Given the description of an element on the screen output the (x, y) to click on. 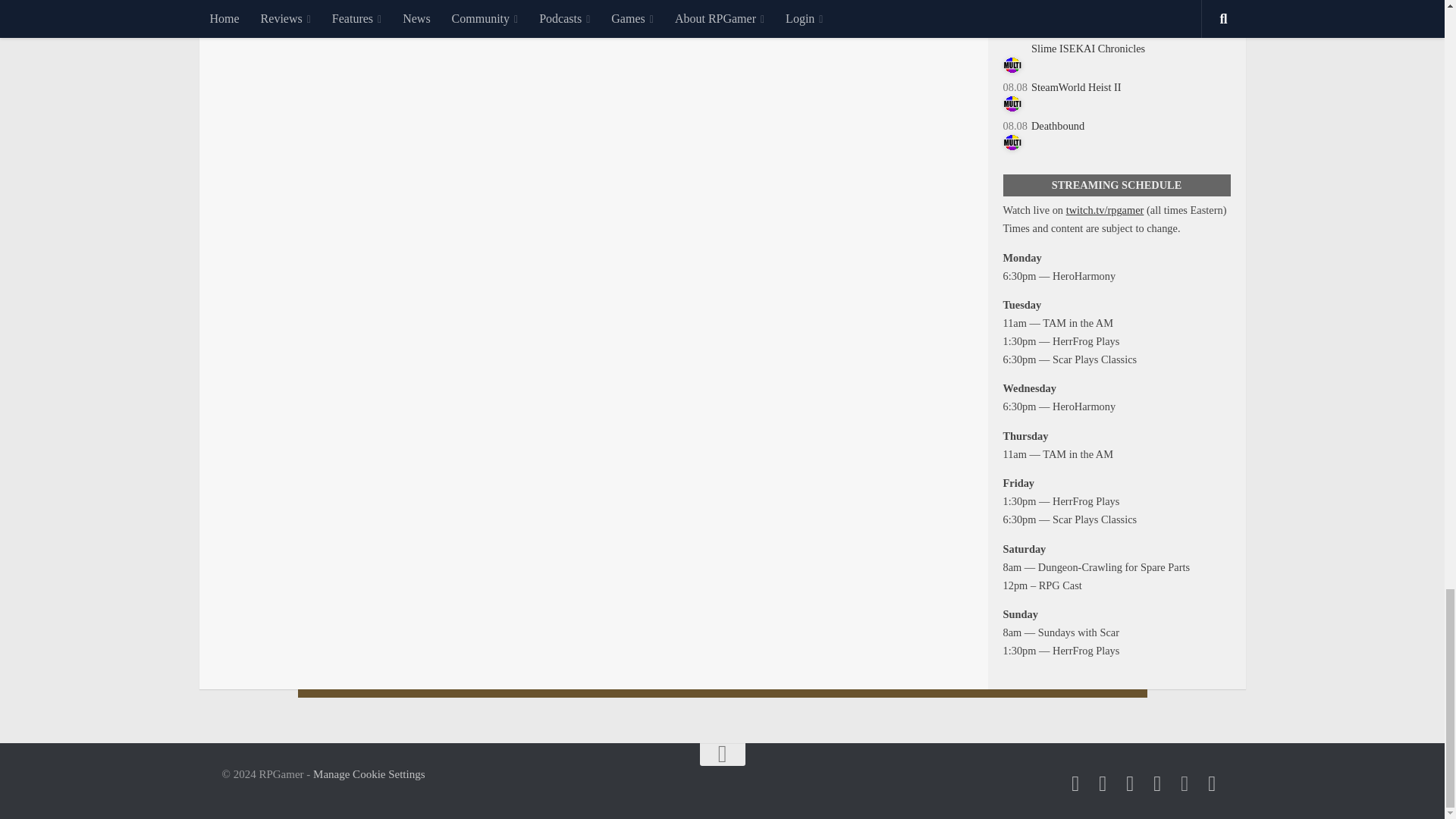
Follow us on Twitter (1075, 783)
Follow us on Youtube (1129, 783)
Follow us on Discord (1184, 783)
Follow us on Facebook (1102, 783)
Follow us on Rss (1212, 783)
Follow us on Twitch (1157, 783)
